Given the description of an element on the screen output the (x, y) to click on. 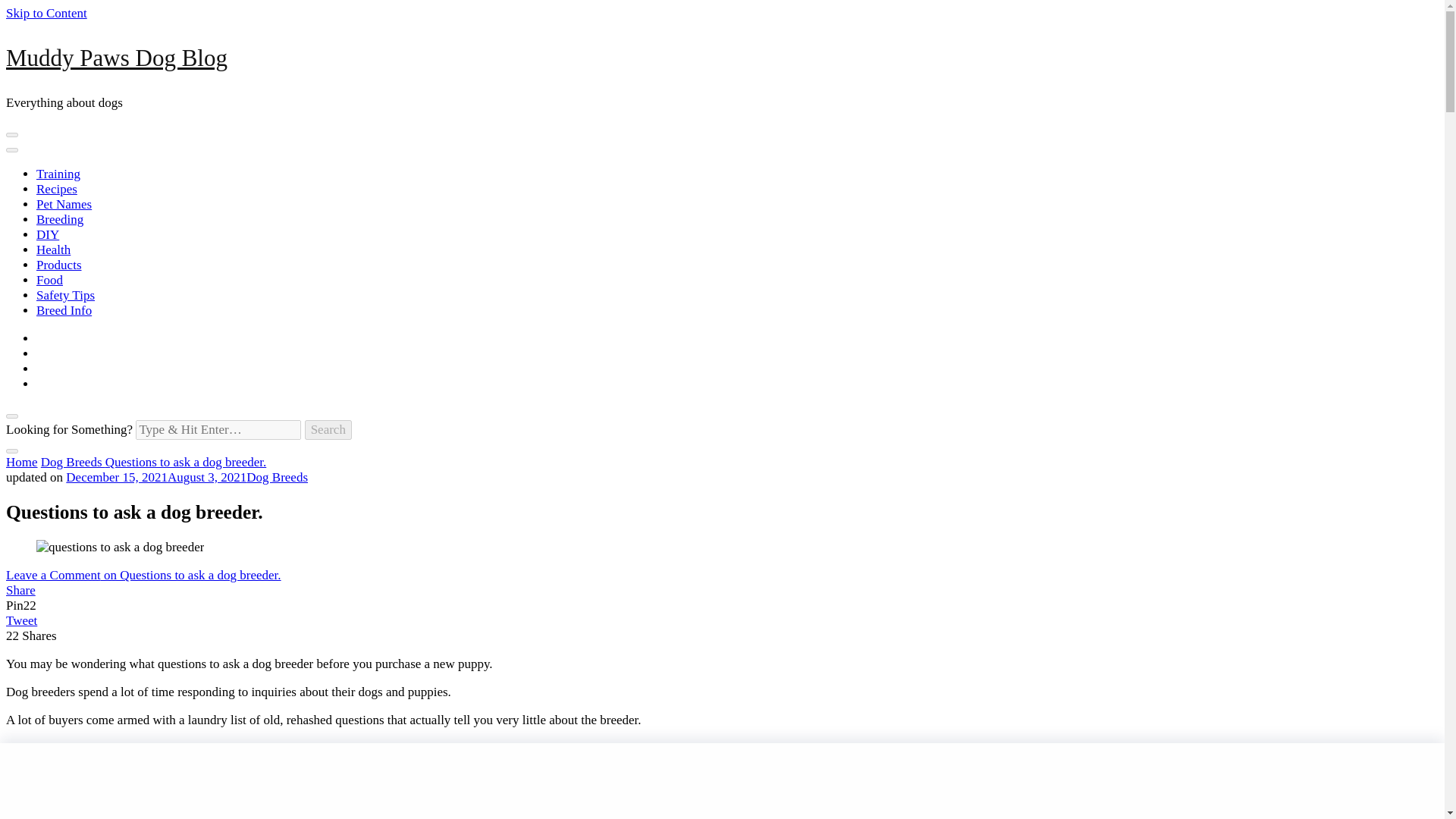
Search (328, 429)
Search (328, 429)
Muddy Paws Dog Blog (116, 58)
Breed Info (63, 310)
Pin22 (20, 605)
Share (19, 590)
Products (58, 264)
DIY (47, 234)
Tweet (21, 620)
Pet Names (63, 204)
Health (52, 249)
Safety Tips (65, 295)
Dog Breeds (72, 462)
Recipes (56, 188)
Search (328, 429)
